Given the description of an element on the screen output the (x, y) to click on. 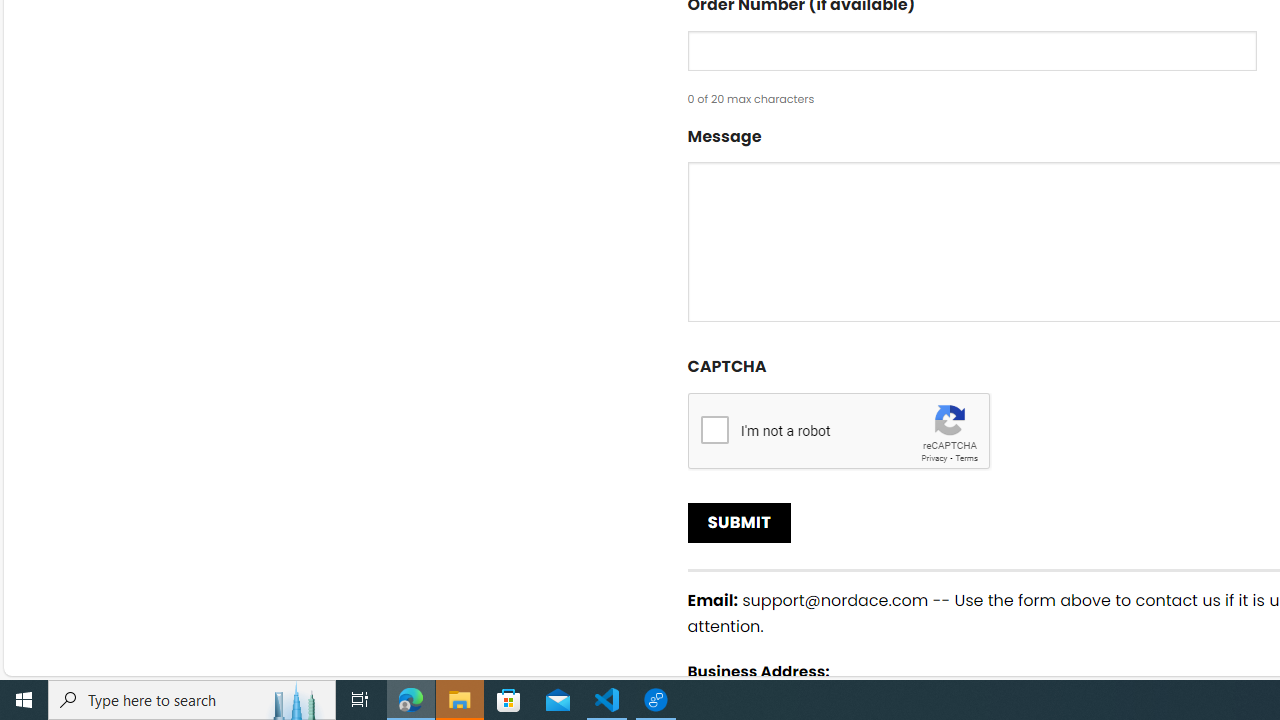
Terms (966, 457)
Order Number (if available) (971, 50)
Privacy (934, 457)
I'm not a robot (714, 429)
Submit (739, 522)
